Given the description of an element on the screen output the (x, y) to click on. 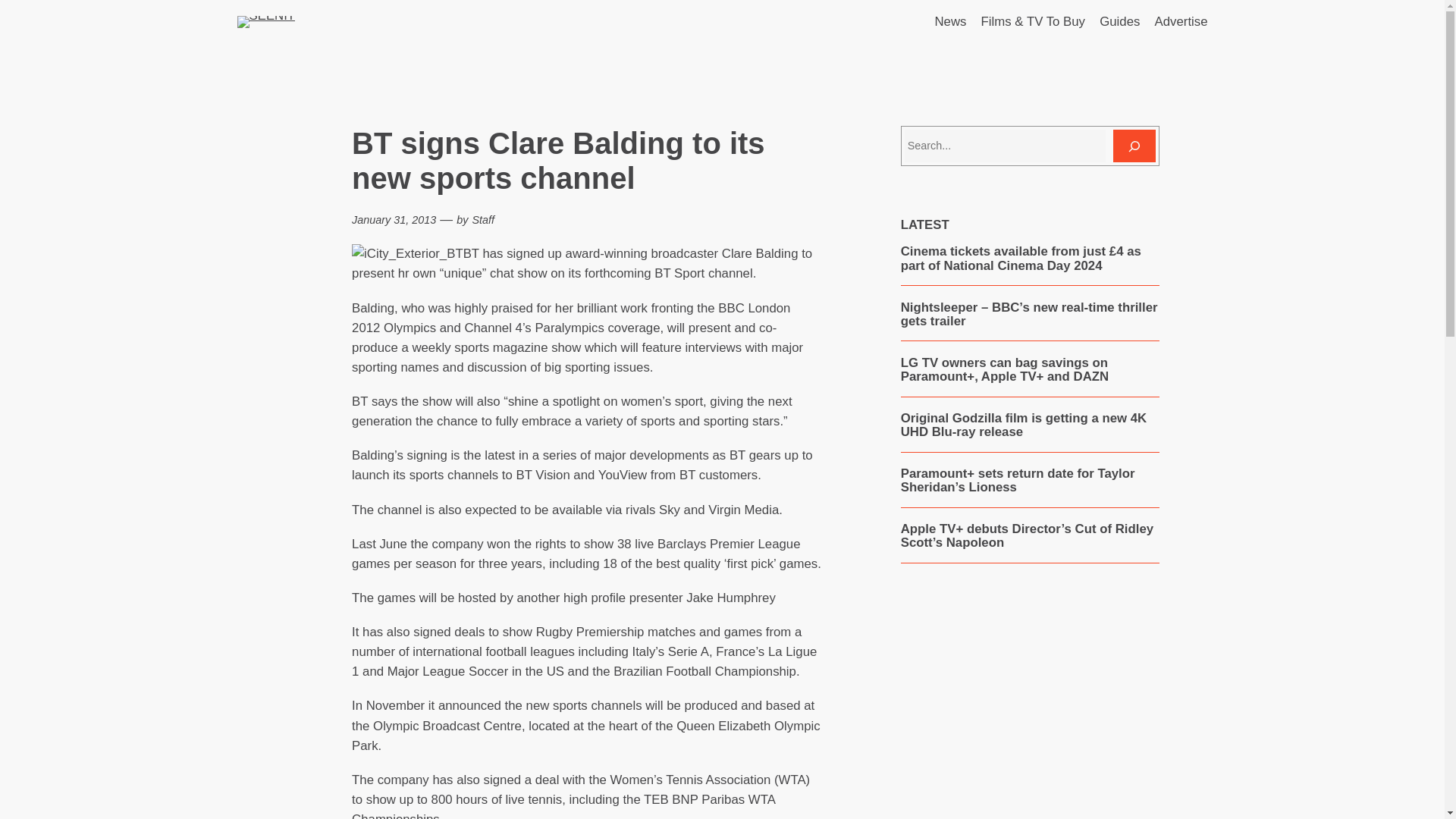
Staff (483, 219)
Advertise (1181, 21)
News (950, 21)
Guides (1119, 21)
